Given the description of an element on the screen output the (x, y) to click on. 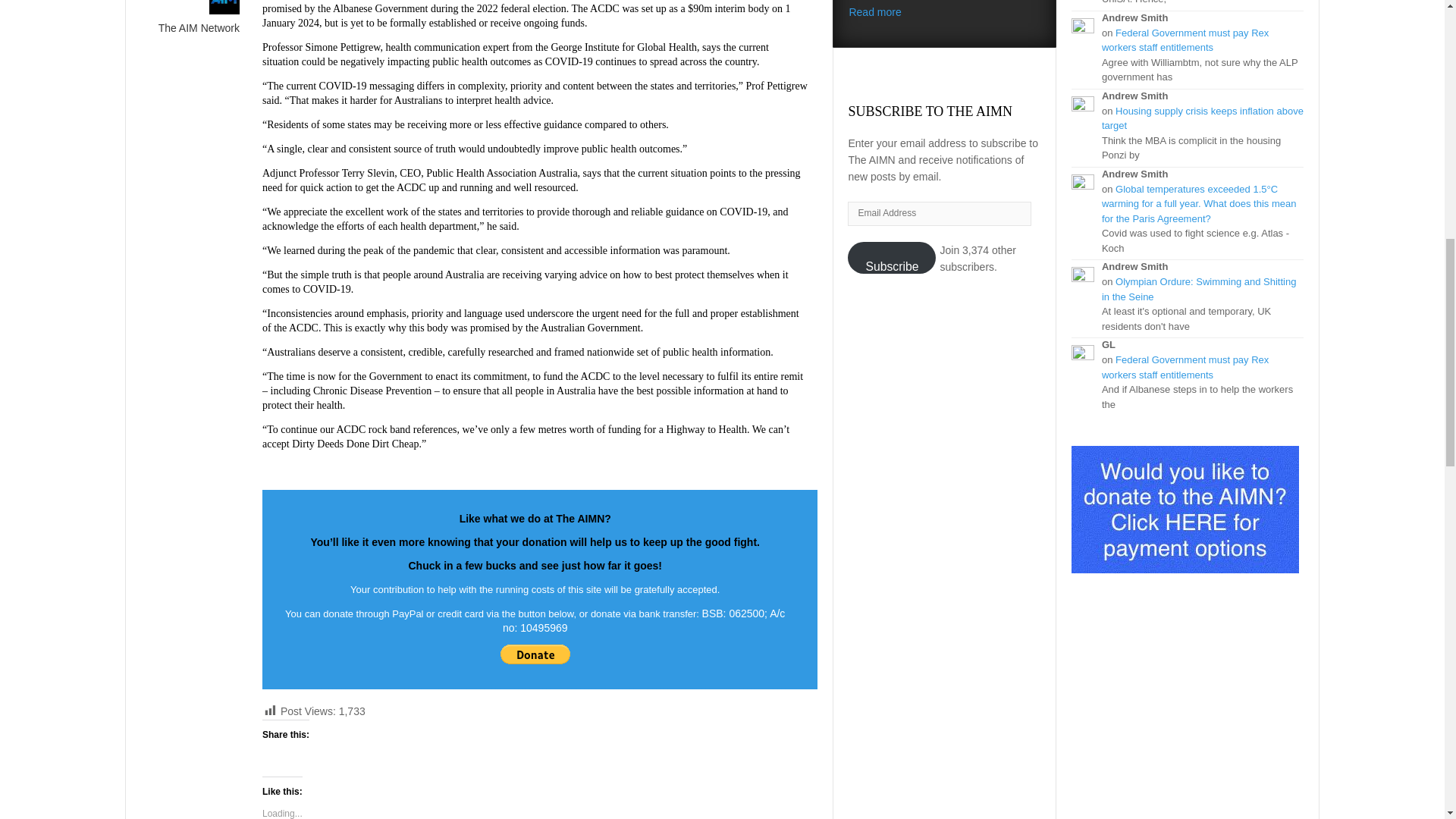
The AIM Network (190, 27)
